Given the description of an element on the screen output the (x, y) to click on. 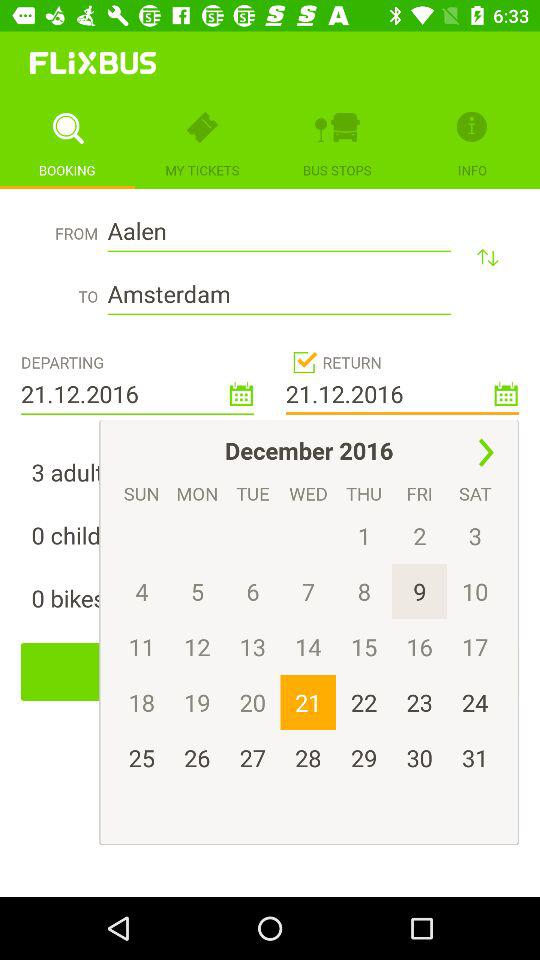
click to move forward to next month (485, 452)
